Given the description of an element on the screen output the (x, y) to click on. 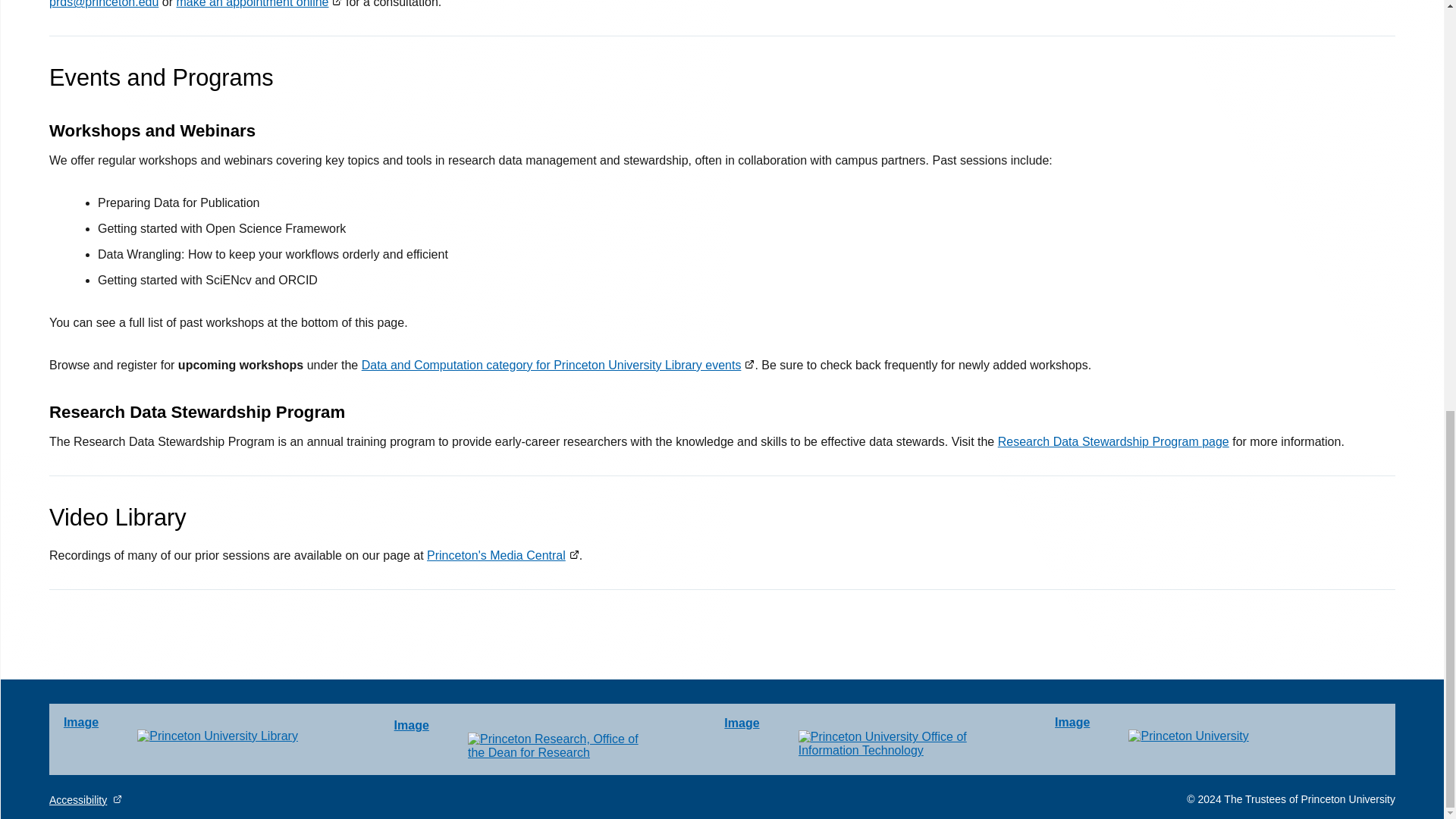
Princeton University Library Events - PRDS (558, 364)
